Given the description of an element on the screen output the (x, y) to click on. 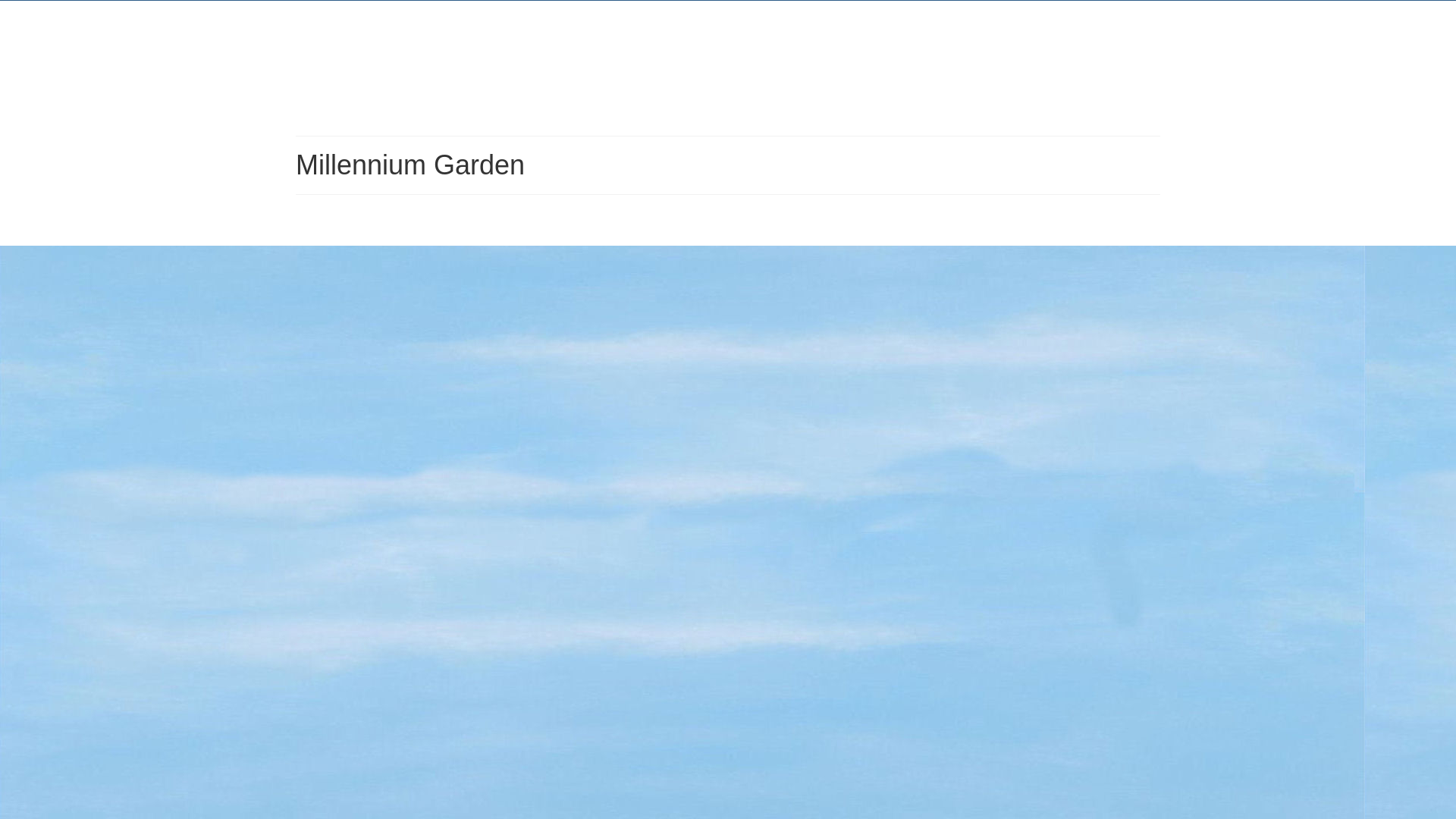
Events (509, 85)
Find Us (651, 85)
About The Village (936, 85)
Gallery (794, 85)
The Mosaic Newsletter (1079, 92)
Home (367, 85)
Local Businesses (367, 112)
Local Services (509, 112)
